Given the description of an element on the screen output the (x, y) to click on. 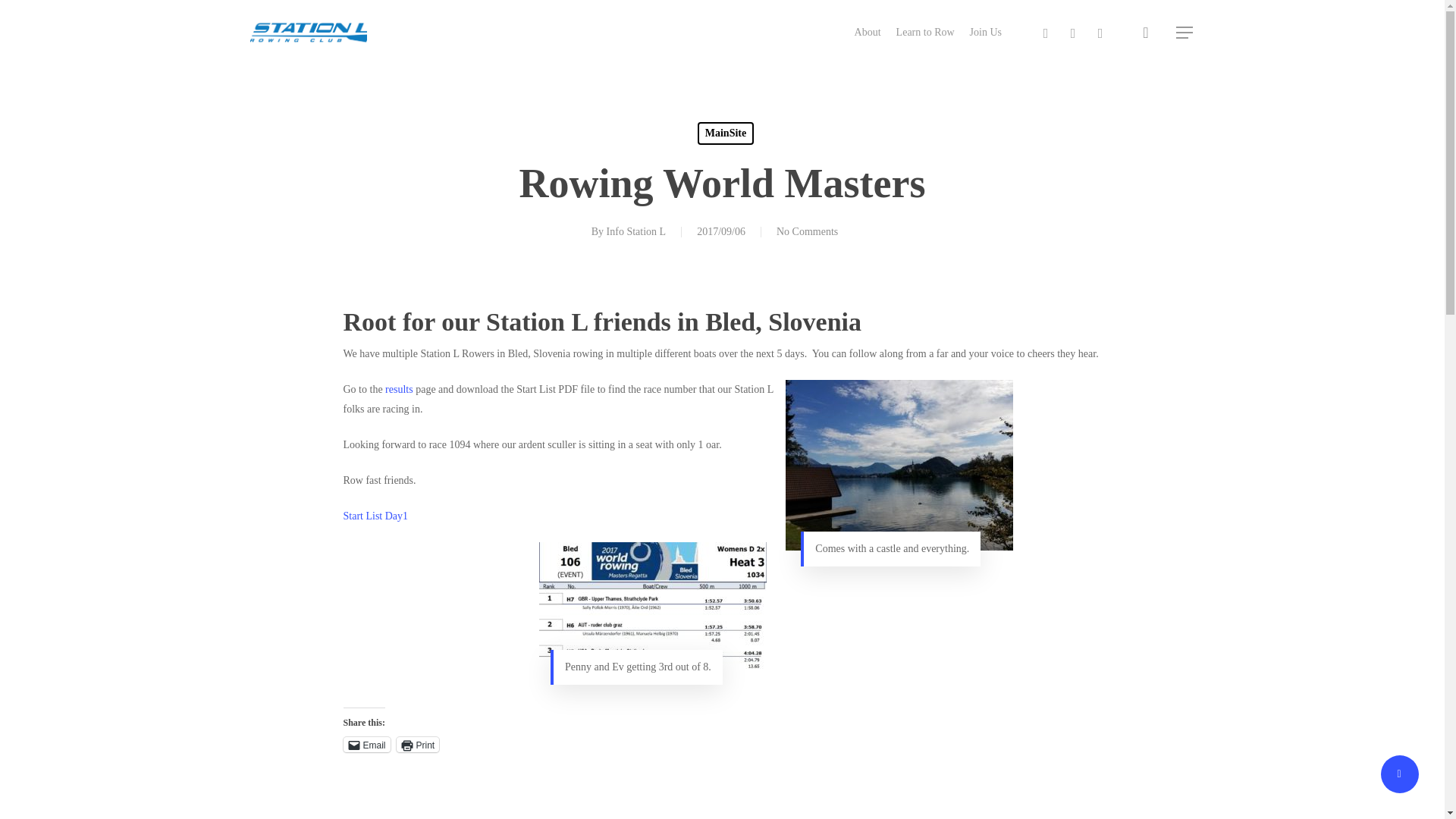
search (1145, 32)
Click to email a link to a friend (366, 744)
Menu (1184, 32)
Start List Day1 (374, 515)
instagram (1072, 32)
Join Us (985, 32)
email (1099, 32)
Email (366, 744)
About (867, 32)
results (399, 389)
